Given the description of an element on the screen output the (x, y) to click on. 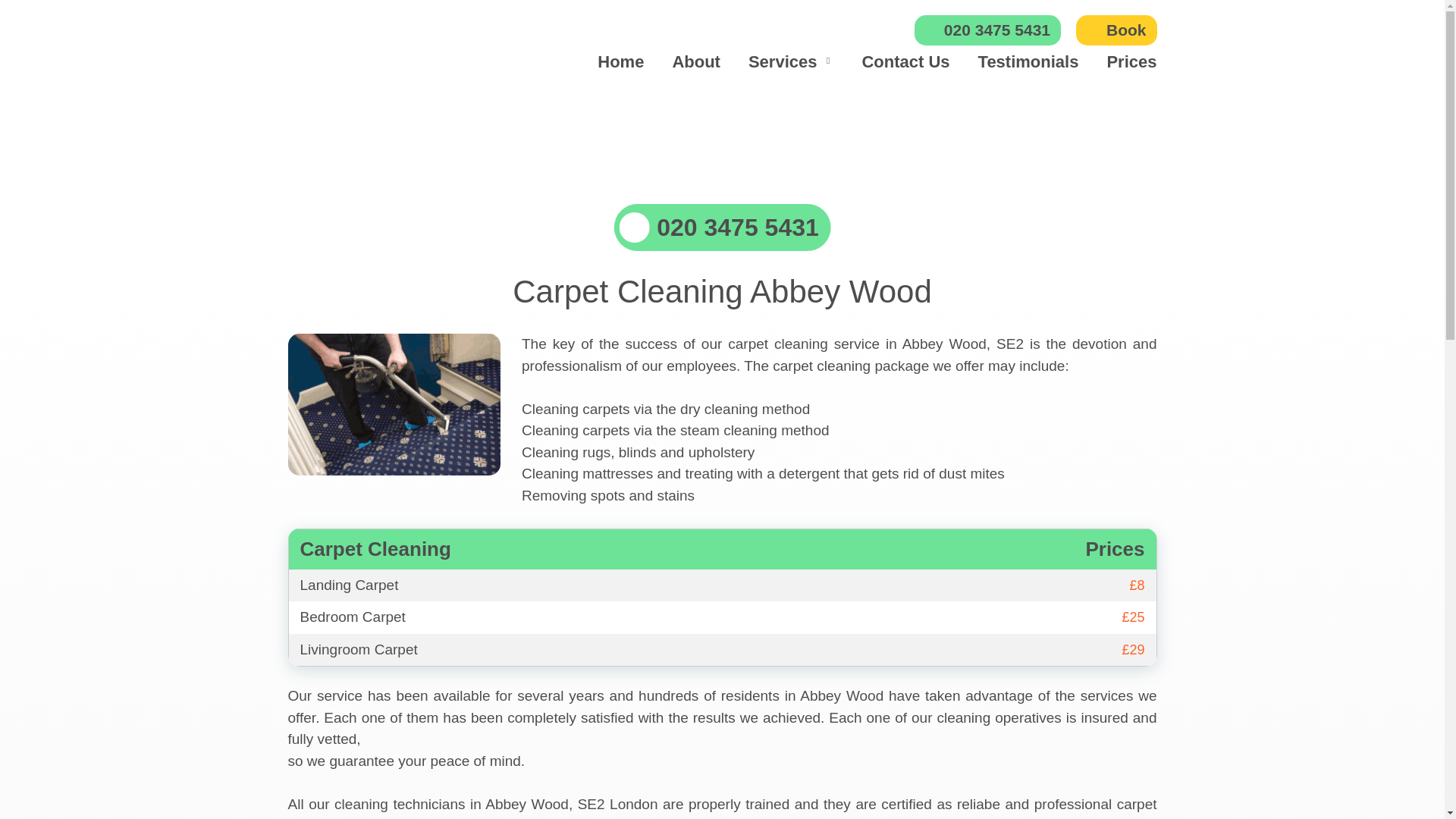
020 3475 5431 (721, 226)
Prices (1131, 60)
020 3475 5431 (987, 30)
Testimonials (1028, 60)
About (695, 60)
Home (619, 60)
Company Logo (371, 43)
Contact Us (905, 60)
Book (1116, 30)
Services (782, 60)
